Given the description of an element on the screen output the (x, y) to click on. 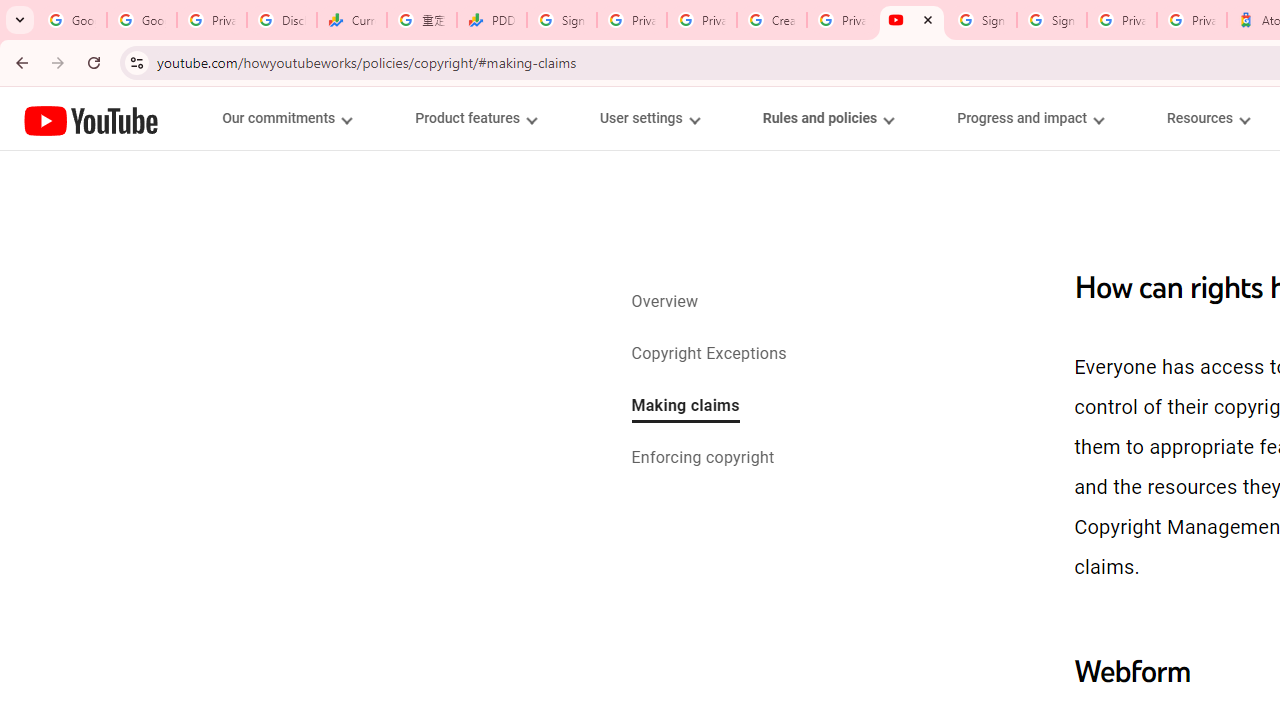
System (10, 11)
Reload (93, 62)
System (10, 11)
Copyright Exceptions (709, 354)
Our commitments menupopup (286, 118)
Sign in - Google Accounts (1051, 20)
Enforcing copyright (702, 459)
Progress and impact menupopup (1030, 118)
View site information (136, 62)
